Given the description of an element on the screen output the (x, y) to click on. 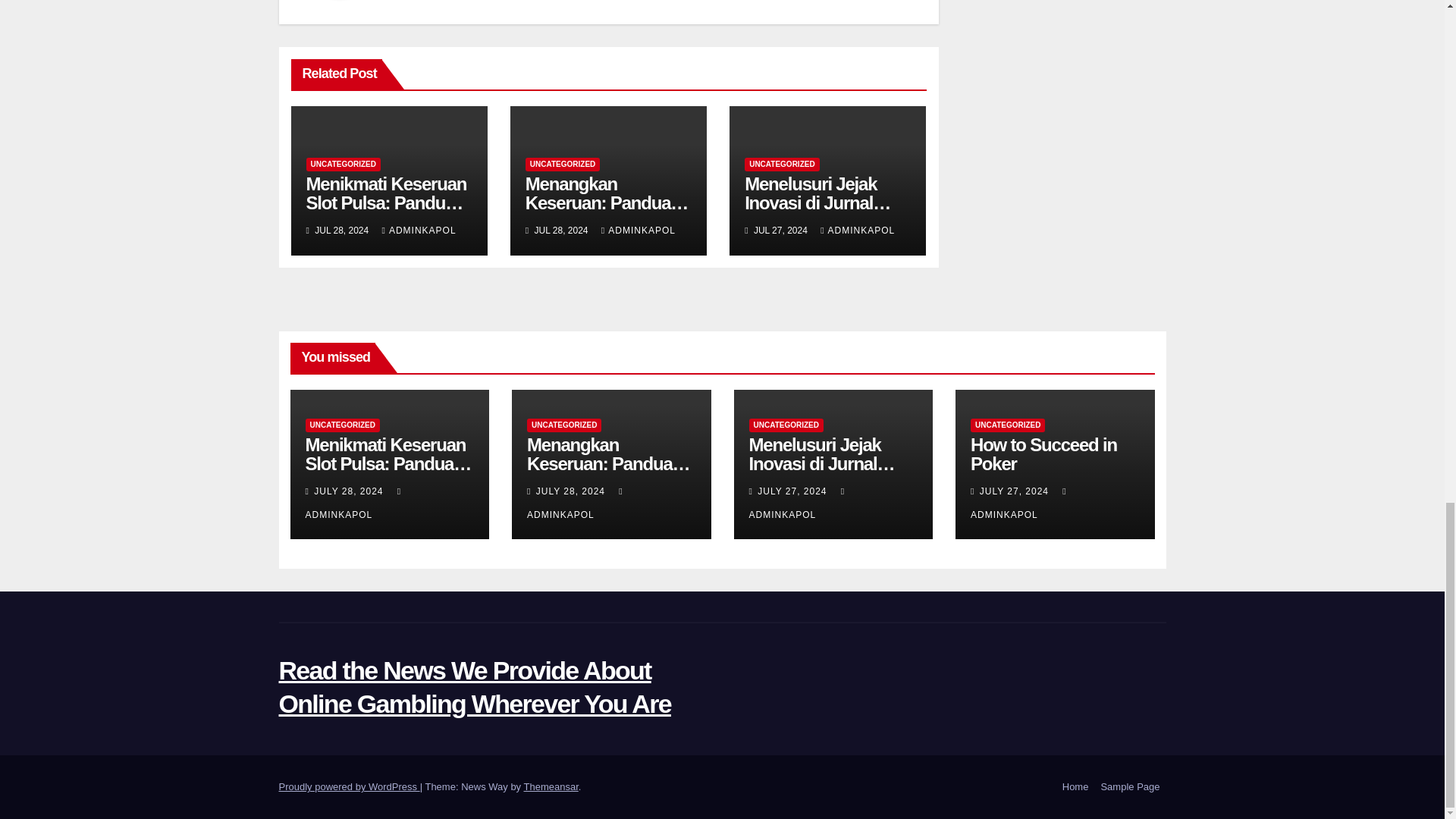
UNCATEGORIZED (562, 164)
Home (1075, 786)
ADMINKAPOL (638, 230)
UNCATEGORIZED (781, 164)
Permalink to: How to Succeed in Poker (1043, 454)
ADMINKAPOL (419, 230)
ADMINKAPOL (858, 230)
UNCATEGORIZED (342, 164)
